Given the description of an element on the screen output the (x, y) to click on. 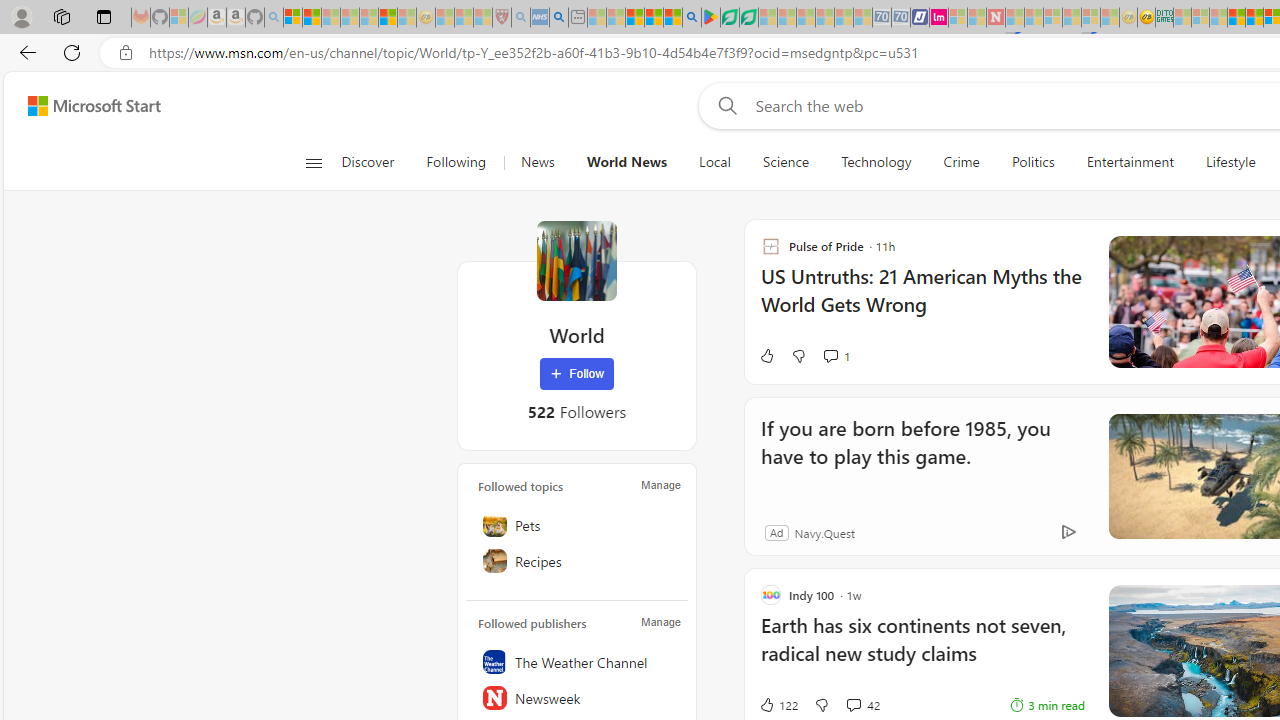
Newsweek (577, 697)
